Given the description of an element on the screen output the (x, y) to click on. 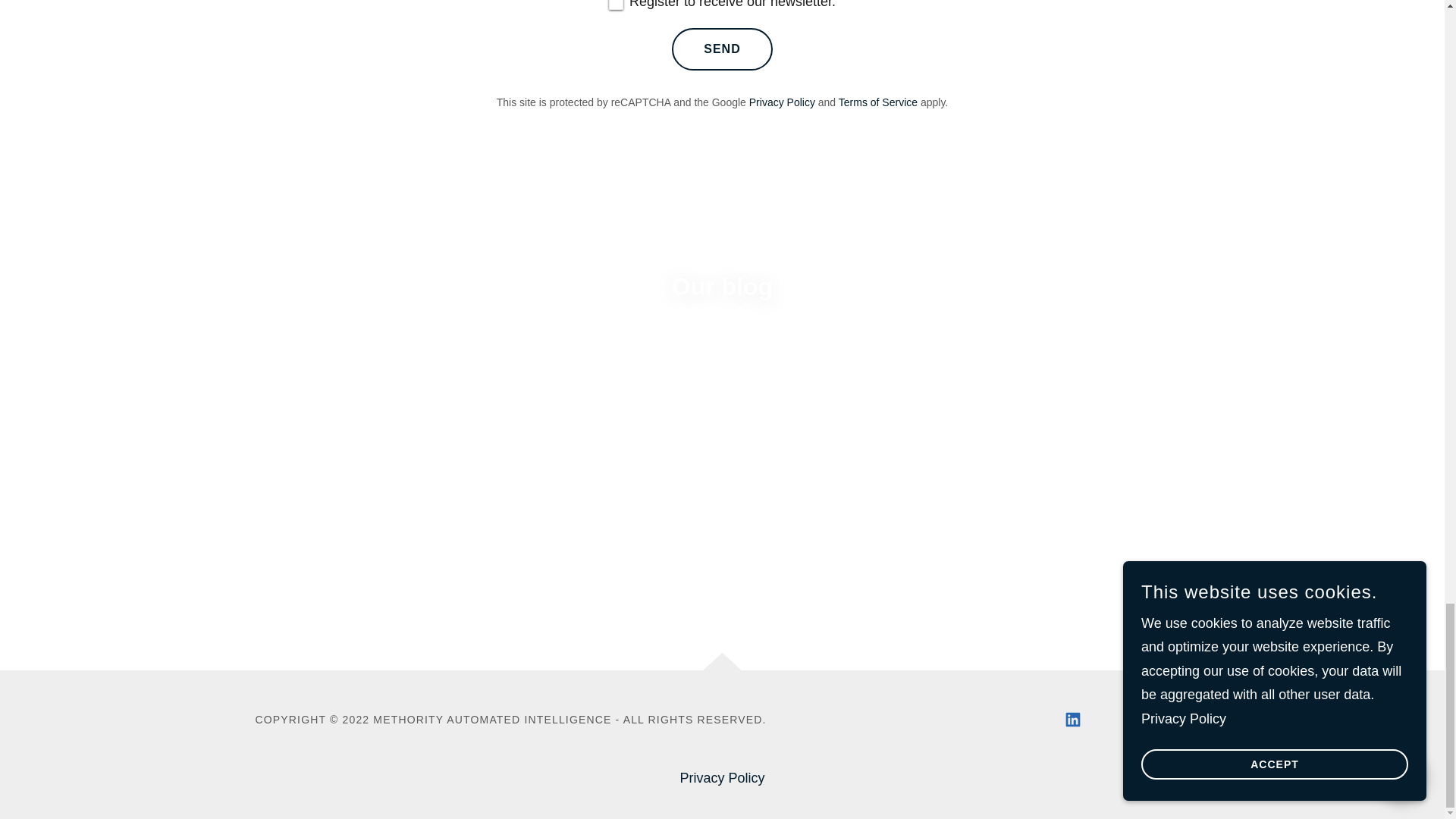
Privacy Policy (782, 101)
Privacy Policy (721, 778)
SEND (721, 48)
Terms of Service (877, 101)
